Given the description of an element on the screen output the (x, y) to click on. 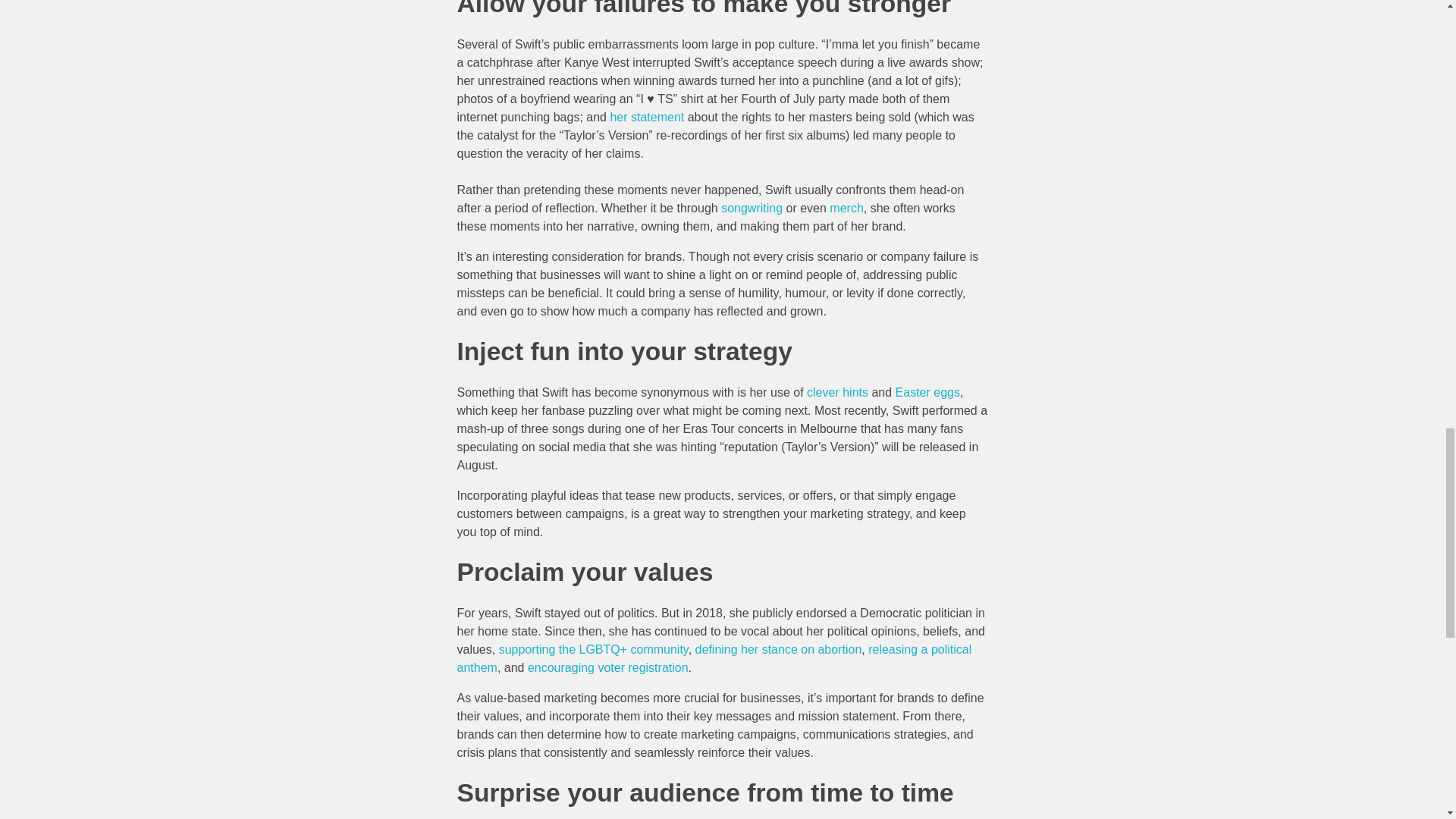
Easter eggs (927, 391)
her statement  (648, 116)
clever hints (836, 391)
merch (846, 207)
songwriting (751, 207)
defining her stance on abortion (778, 649)
releasing a political anthem (714, 658)
encouraging voter registration (607, 667)
